Given the description of an element on the screen output the (x, y) to click on. 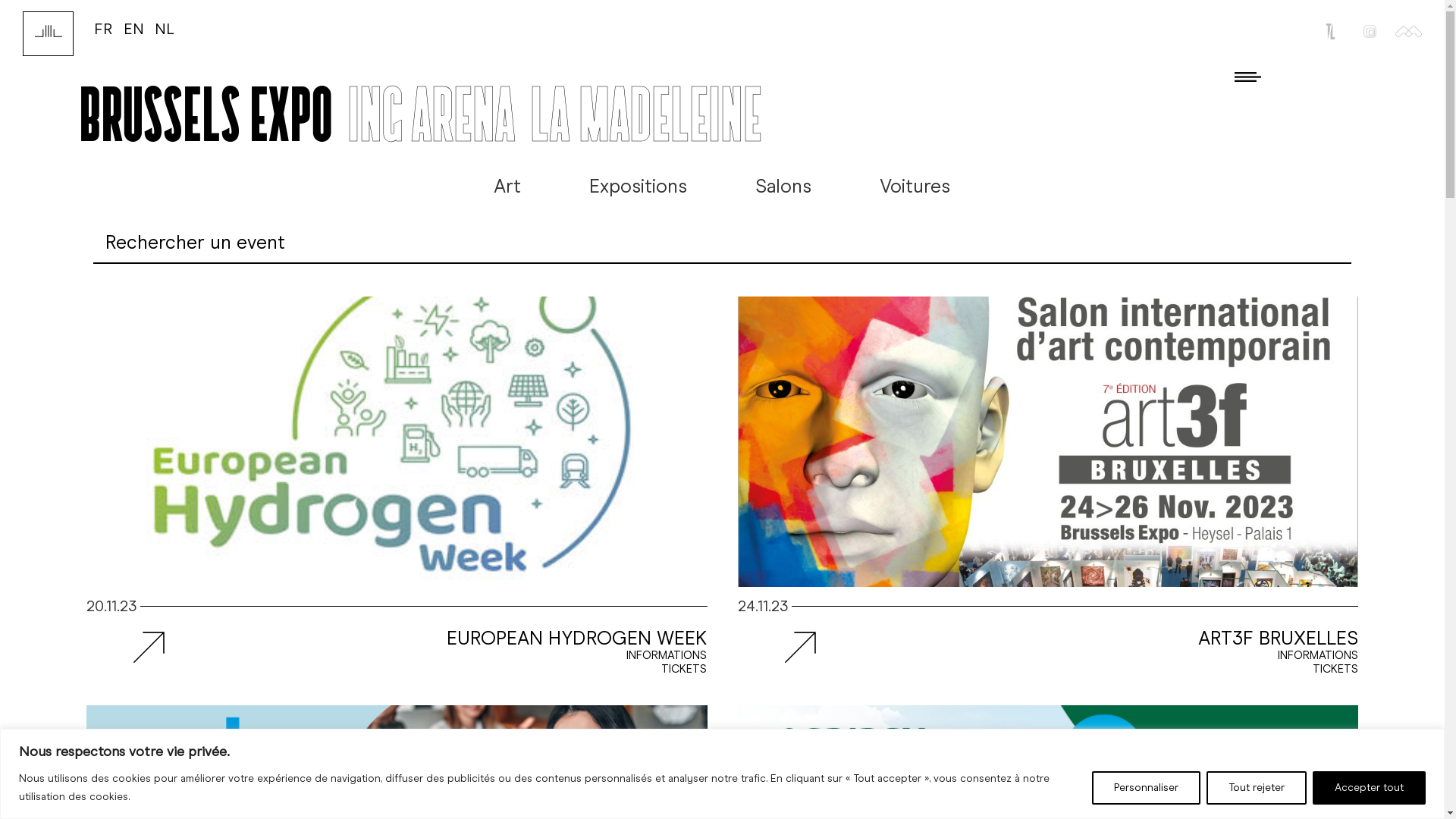
INFORMATIONS Element type: text (666, 655)
ING ARENA Element type: text (430, 113)
Personnaliser Element type: text (1146, 786)
TICKETS Element type: text (1335, 668)
BRUSSELS EXPO Element type: text (205, 113)
EN Element type: text (133, 28)
LA MADELEINE Element type: text (646, 113)
Tout rejeter Element type: text (1256, 786)
FR Element type: text (103, 28)
TICKETS Element type: text (683, 668)
NL Element type: text (164, 28)
Accepter tout Element type: text (1368, 786)
INFORMATIONS Element type: text (1317, 655)
